Given the description of an element on the screen output the (x, y) to click on. 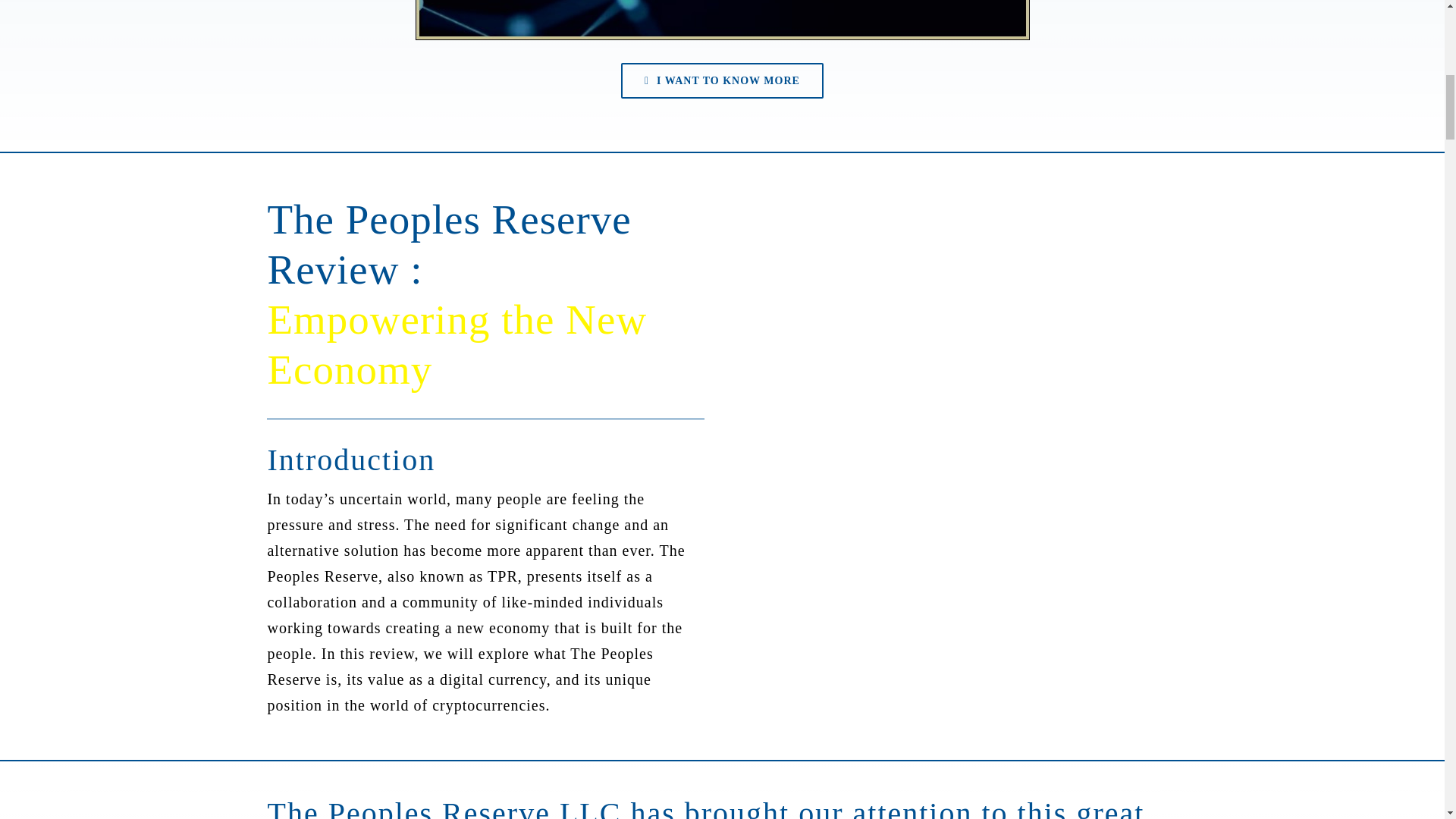
I WANT TO KNOW MORE (722, 80)
Introduction to The People's Reserve (722, 20)
The New Economy (397, 57)
Privacy Policy (444, 109)
